Given the description of an element on the screen output the (x, y) to click on. 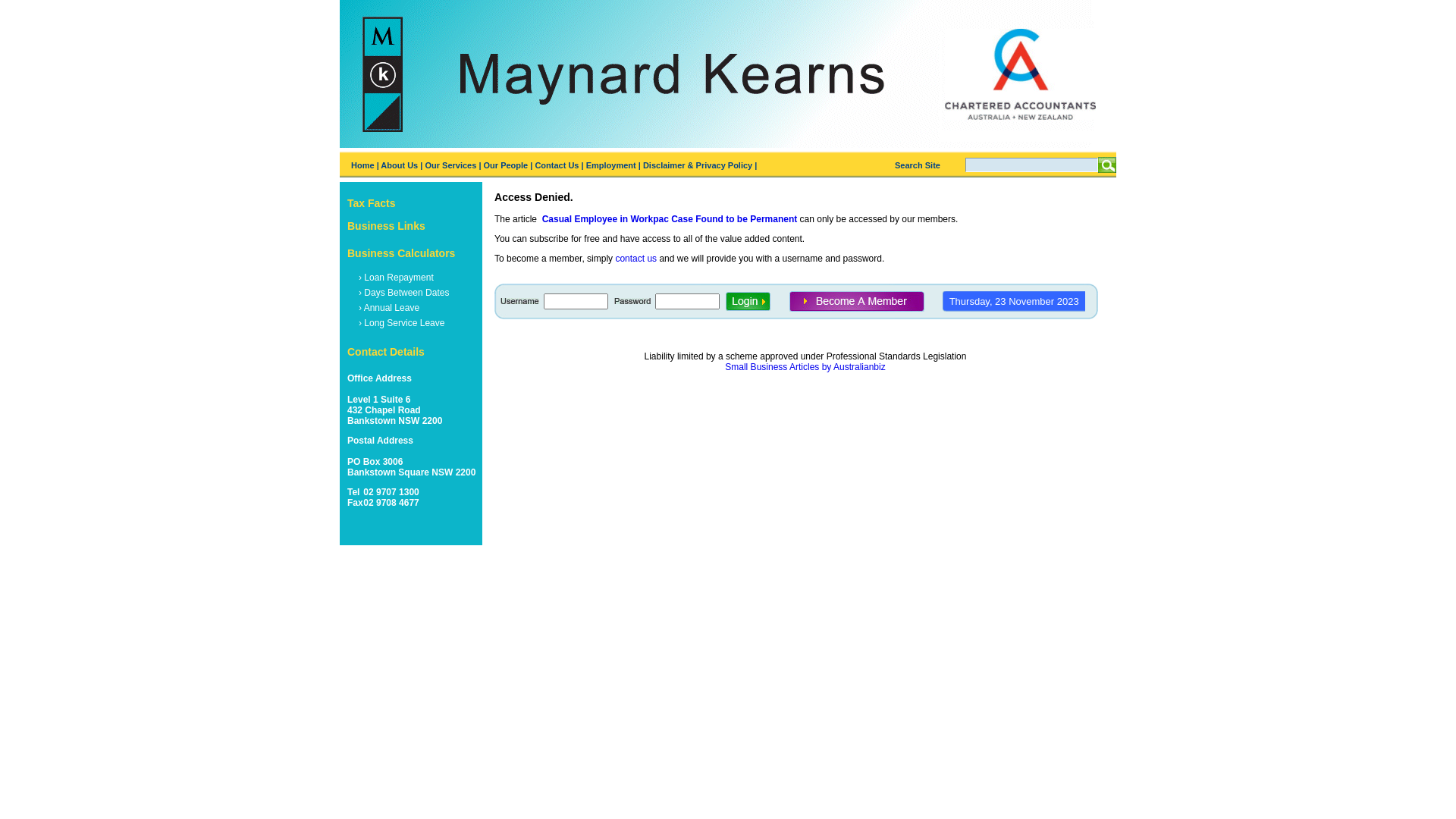
Employment Element type: text (611, 164)
About Us Element type: text (398, 164)
Home Element type: text (362, 164)
Our People Element type: text (505, 164)
Business Links Element type: text (386, 225)
Casual Employee in Workpac Case Found to be Permanent Element type: text (669, 218)
contact us Element type: text (635, 258)
Disclaimer & Privacy Policy Element type: text (697, 164)
Contact Us Element type: text (556, 164)
Small Business Articles by Australianbiz Element type: text (804, 366)
Our Services Element type: text (450, 164)
Tax Facts Element type: text (371, 203)
